Given the description of an element on the screen output the (x, y) to click on. 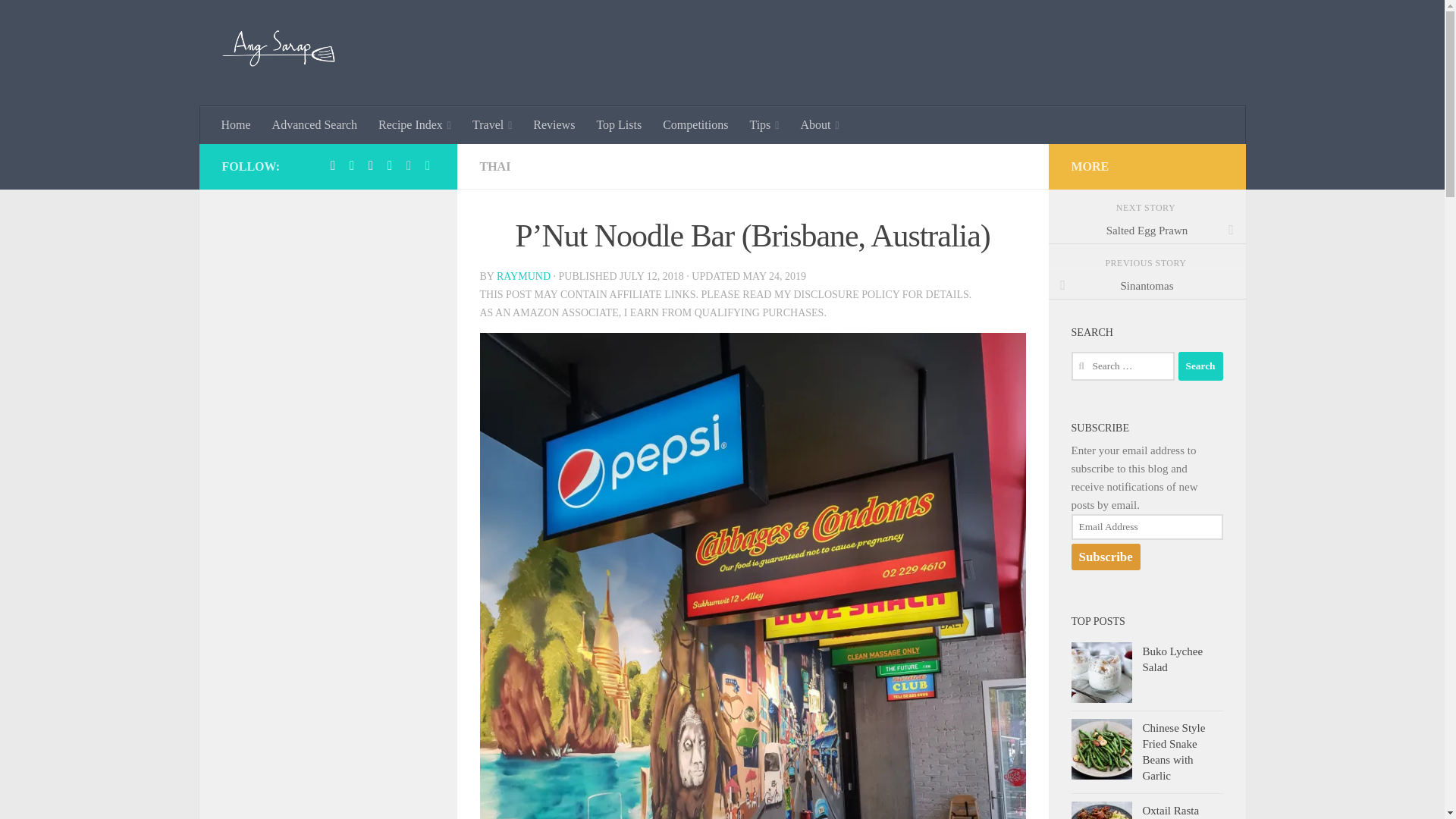
Home (236, 125)
Skip to content (59, 20)
Search (1200, 366)
Posts by Raymund (523, 276)
Advanced Search (315, 125)
Search (1200, 366)
Recipe Index (414, 125)
